Given the description of an element on the screen output the (x, y) to click on. 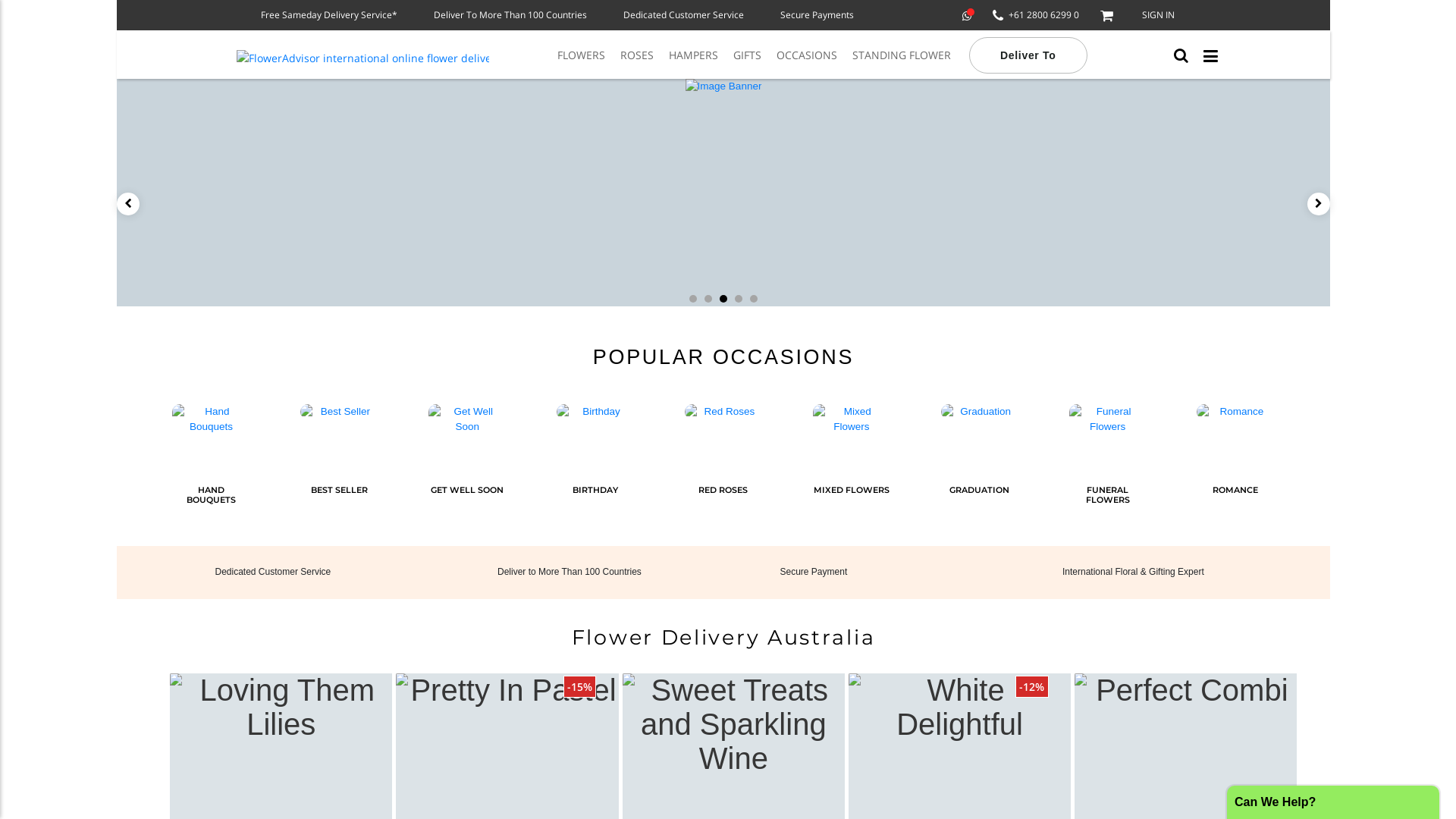
FLOWERS Element type: text (581, 52)
GET WELL SOON Element type: text (466, 463)
ROMANCE Element type: text (1235, 463)
OCCASIONS Element type: text (806, 52)
FUNERAL FLOWERS Element type: text (1107, 463)
ROSES Element type: text (636, 52)
Deliver To Element type: text (1028, 52)
RED ROSES Element type: text (723, 463)
BIRTHDAY Element type: text (594, 463)
BEST SELLER Element type: text (338, 463)
STANDING FLOWER Element type: text (901, 52)
GIFTS Element type: text (747, 52)
GRADUATION Element type: text (979, 463)
HAND BOUQUETS Element type: text (210, 463)
HAMPERS Element type: text (693, 52)
MIXED FLOWERS Element type: text (851, 463)
